Given the description of an element on the screen output the (x, y) to click on. 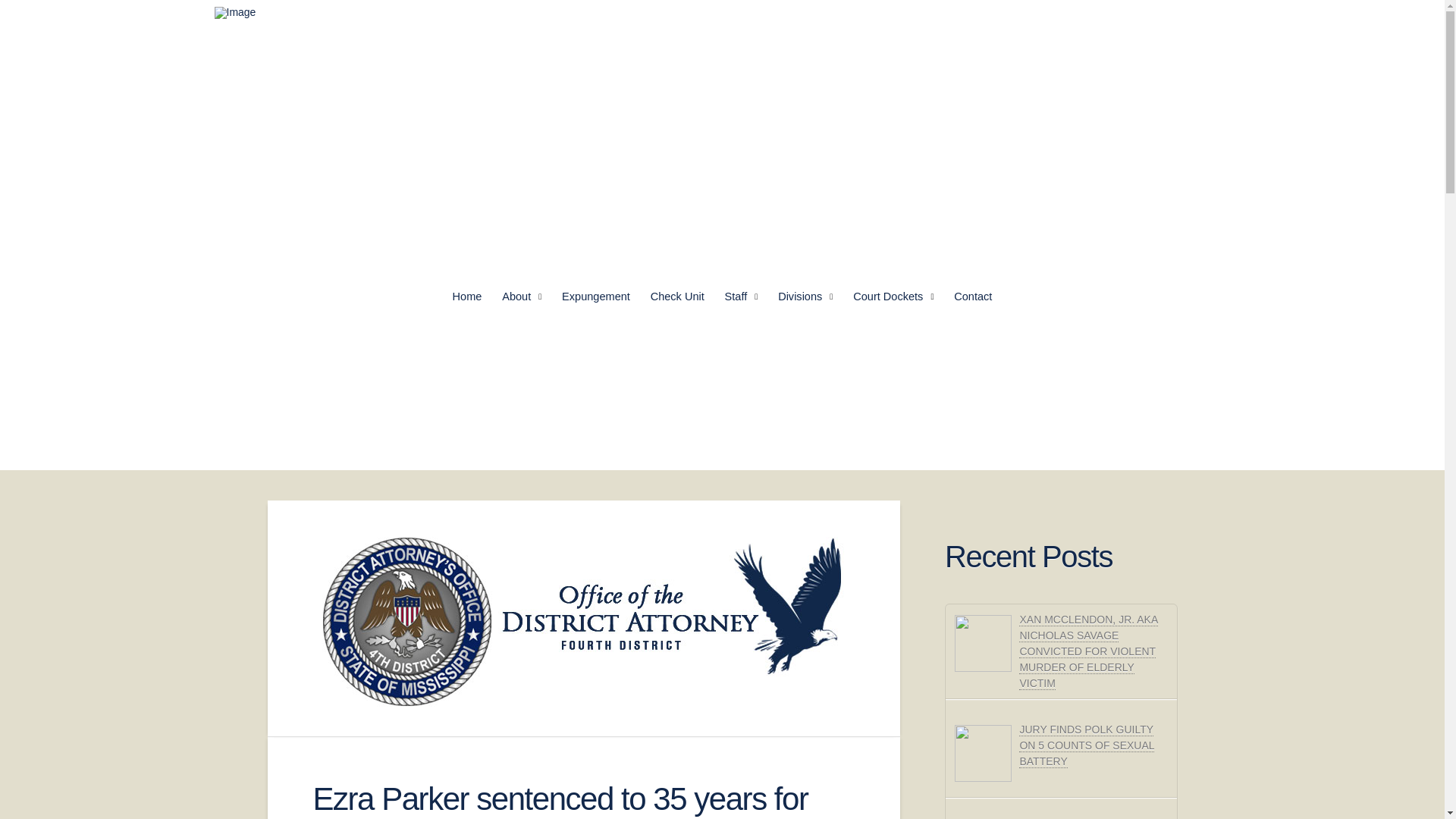
Staff (741, 296)
About (521, 296)
Expungement (595, 296)
Check Unit (677, 296)
Home (467, 296)
Divisions (805, 296)
